Given the description of an element on the screen output the (x, y) to click on. 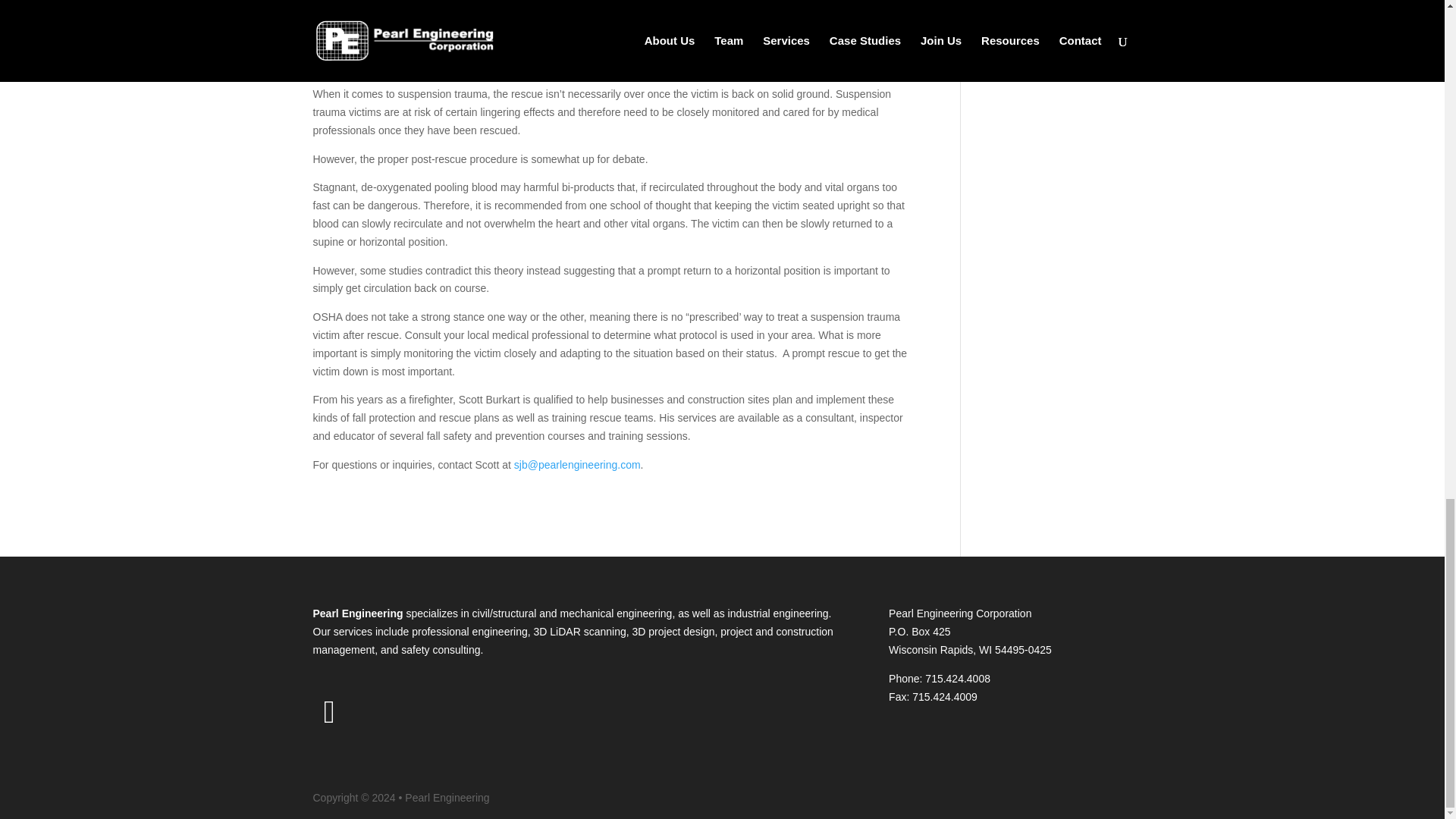
LinkedIn (328, 715)
